Given the description of an element on the screen output the (x, y) to click on. 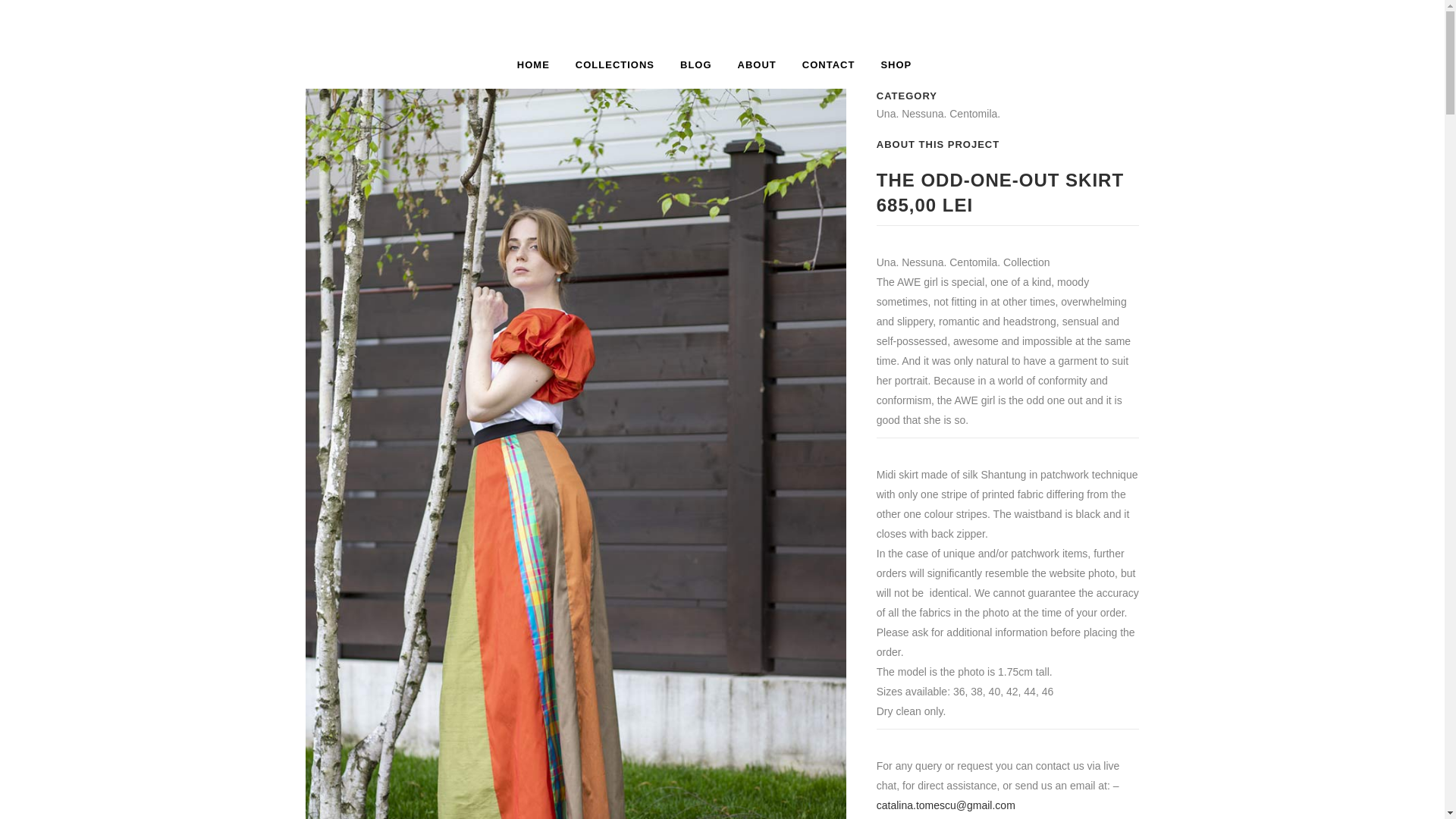
BLOG (695, 64)
COLLECTIONS (614, 64)
HOME (539, 64)
CONTACT (828, 64)
SHOP (895, 64)
ABOUT (757, 64)
